Given the description of an element on the screen output the (x, y) to click on. 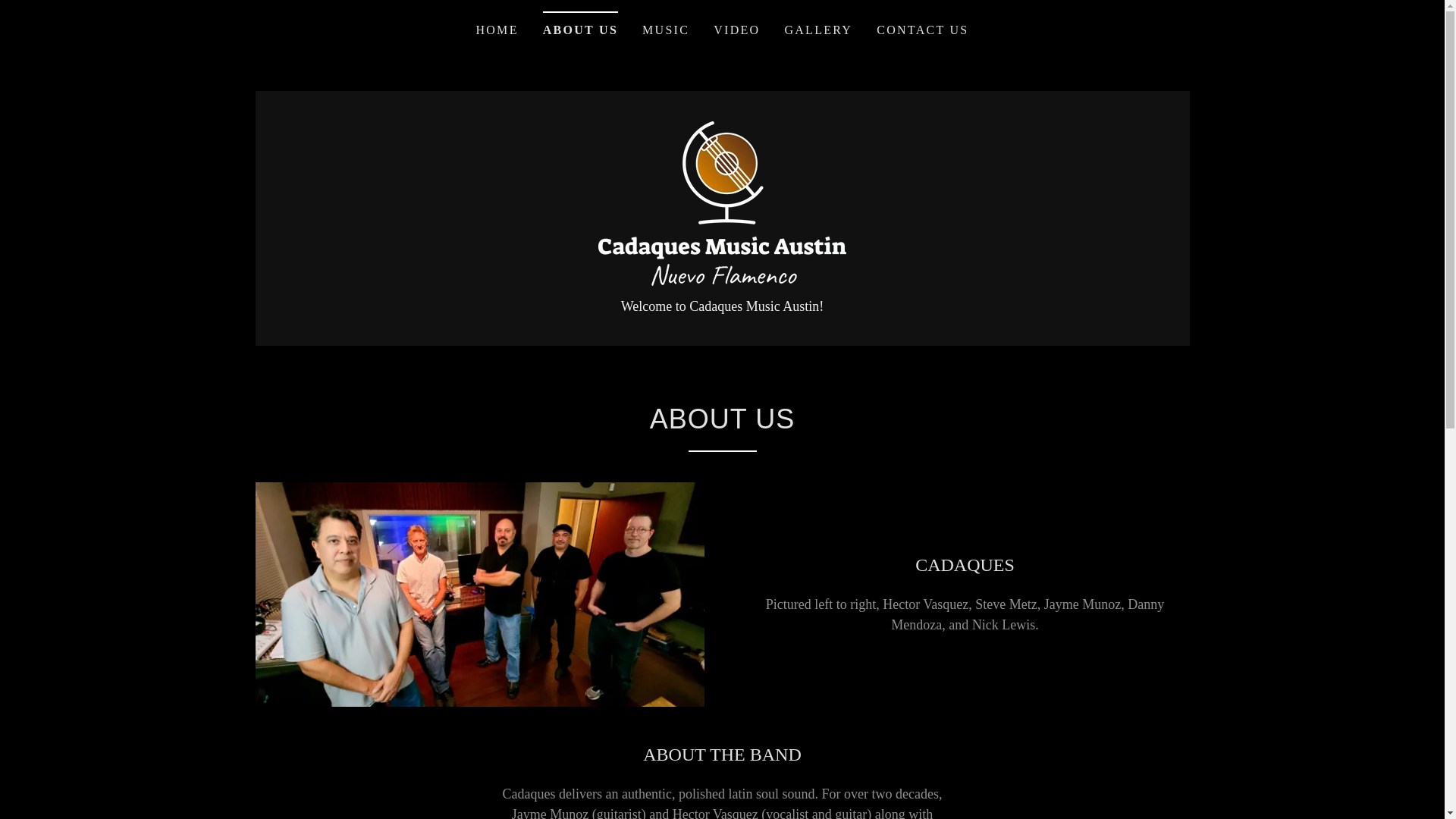
GALLERY (817, 30)
CONTACT US (922, 30)
VIDEO (736, 30)
Cadaques Music Austin (721, 201)
MUSIC (665, 30)
HOME (496, 30)
ABOUT US (580, 25)
